Given the description of an element on the screen output the (x, y) to click on. 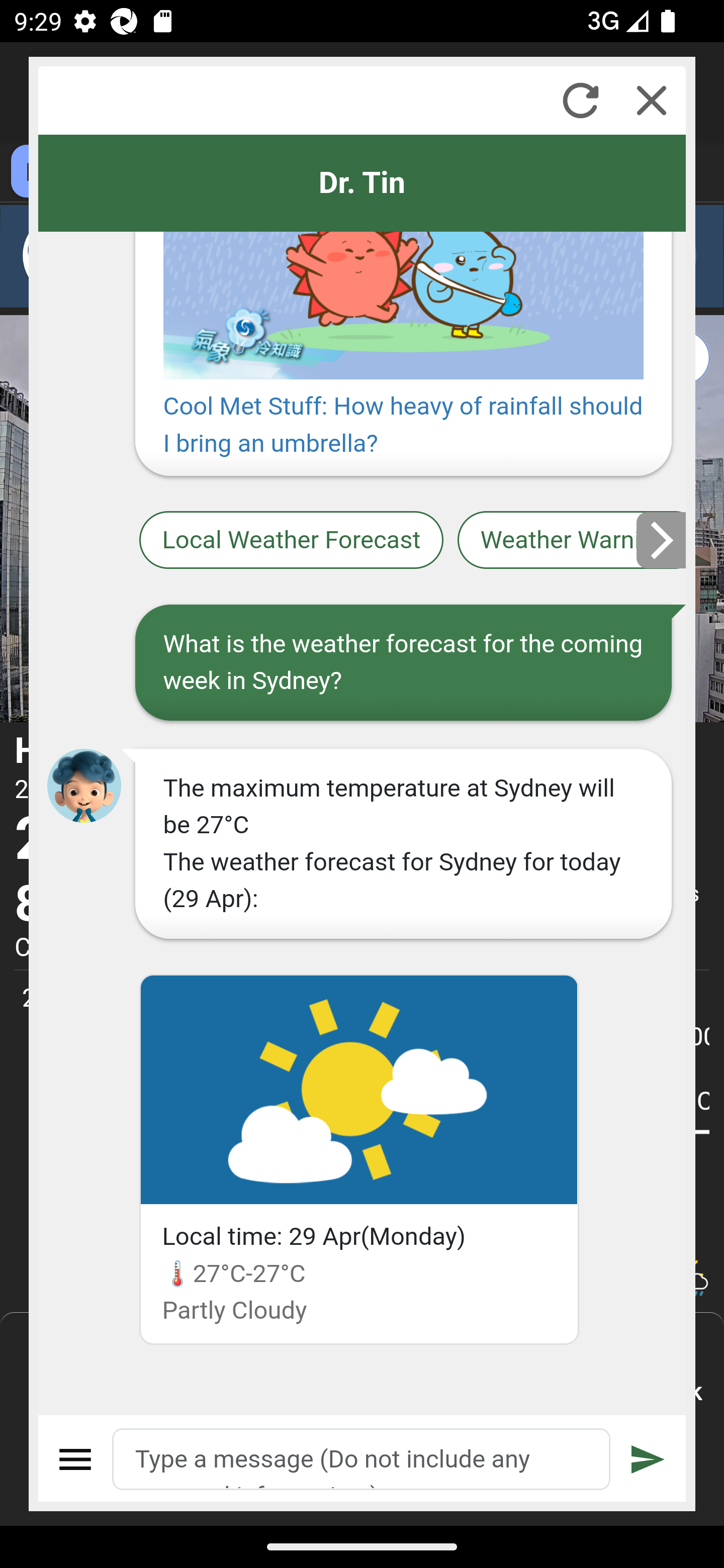
Refresh (580, 100)
Close (651, 100)
Local Weather Forecast (291, 540)
Weather Warnings (571, 540)
Next slide (661, 540)
Menu (75, 1458)
Submit (648, 1458)
